Given the description of an element on the screen output the (x, y) to click on. 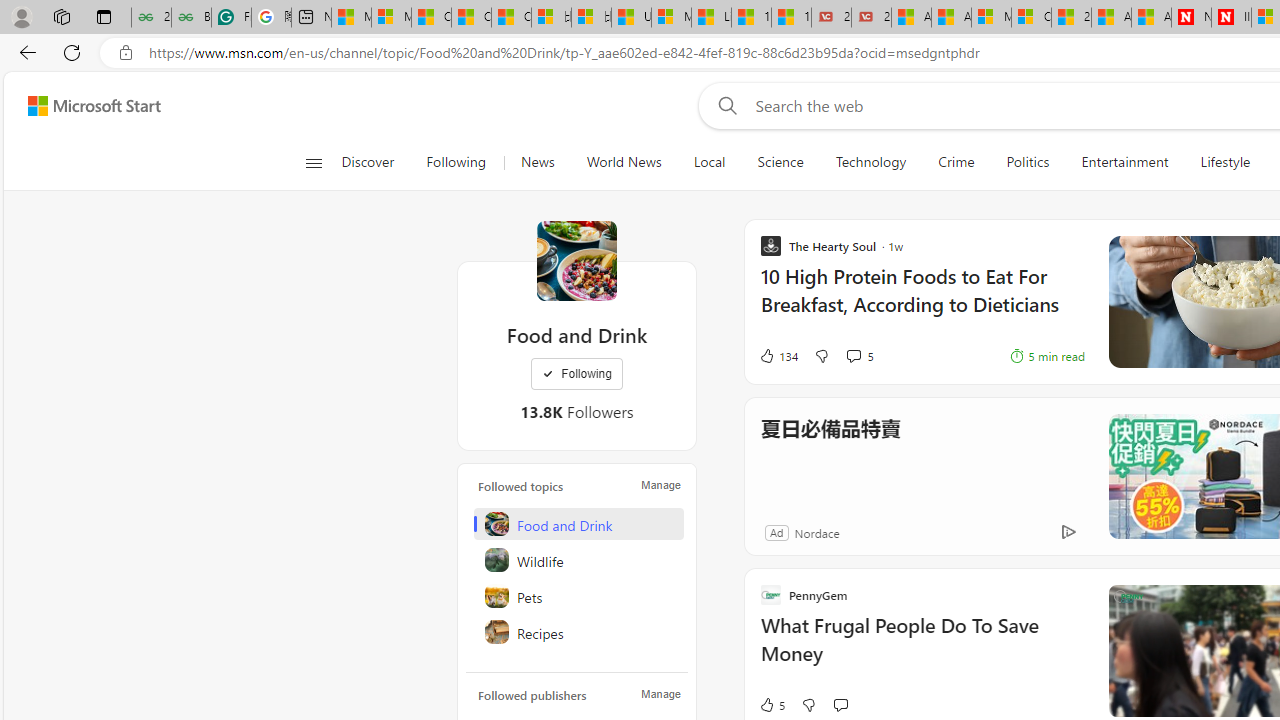
Illness news & latest pictures from Newsweek.com (1231, 17)
